Given the description of an element on the screen output the (x, y) to click on. 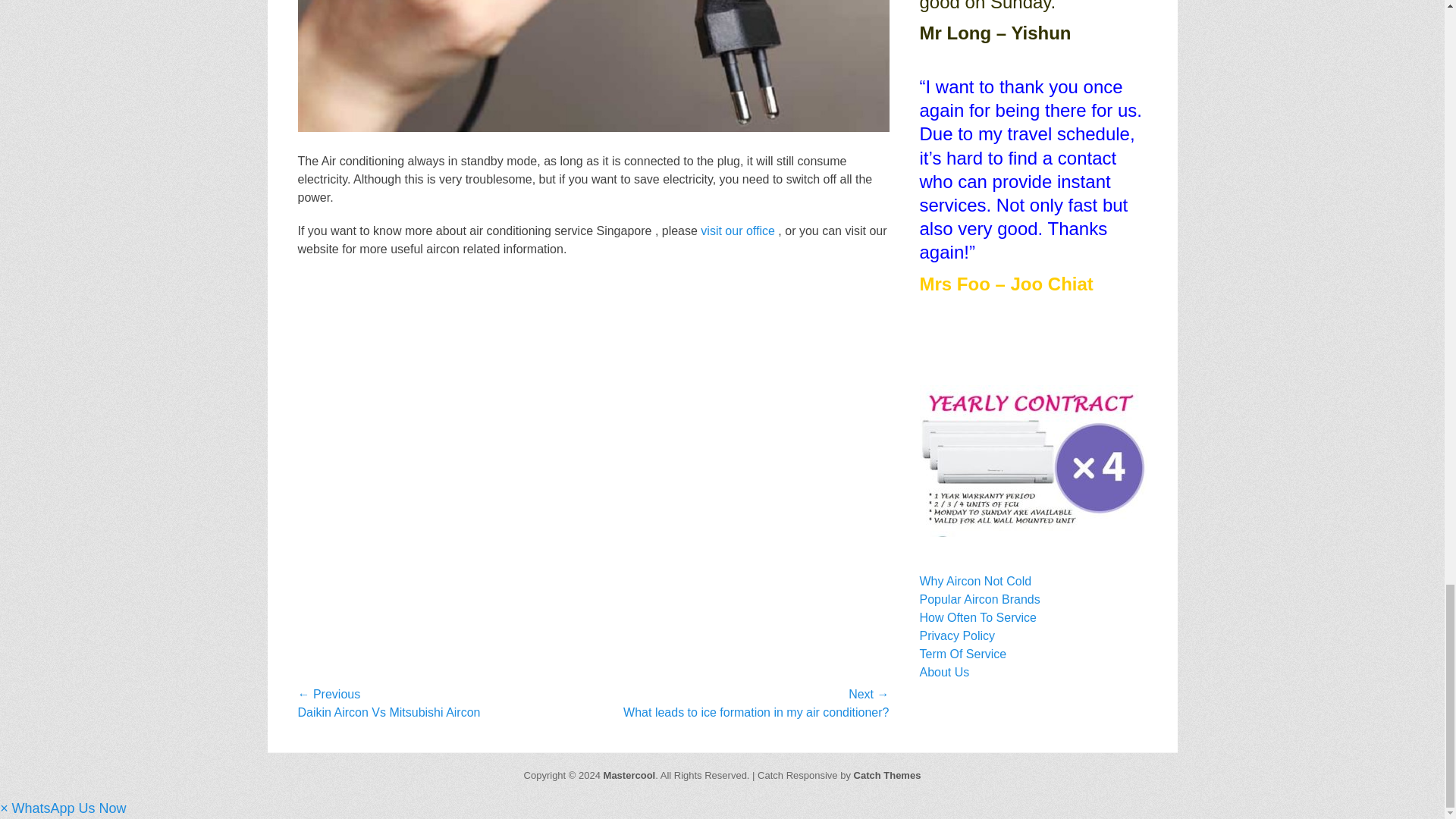
Catch Themes (887, 775)
visit our office (737, 230)
About Us (943, 671)
Popular Aircon Brands (978, 599)
How Often To Service (976, 617)
Why Aircon Not Cold (974, 581)
Term Of Service (962, 653)
Privacy Policy (956, 635)
Mastercool (630, 775)
